Given the description of an element on the screen output the (x, y) to click on. 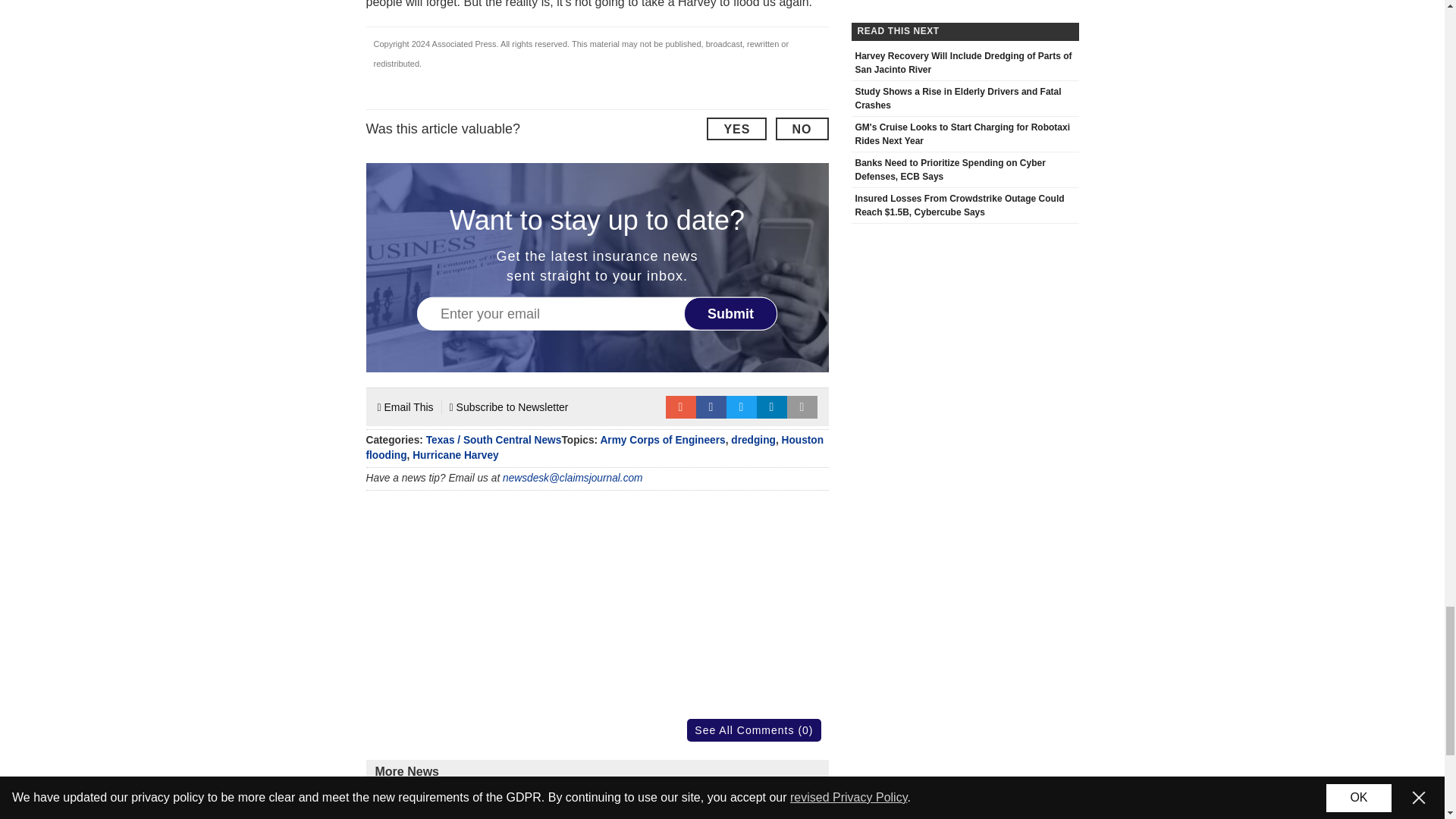
NO (801, 128)
Email to a friend (680, 406)
Print Article (801, 406)
Share on LinkedIn. (772, 406)
YES (736, 128)
Post to Facebook. (710, 406)
Share on Twitter. (741, 406)
